Given the description of an element on the screen output the (x, y) to click on. 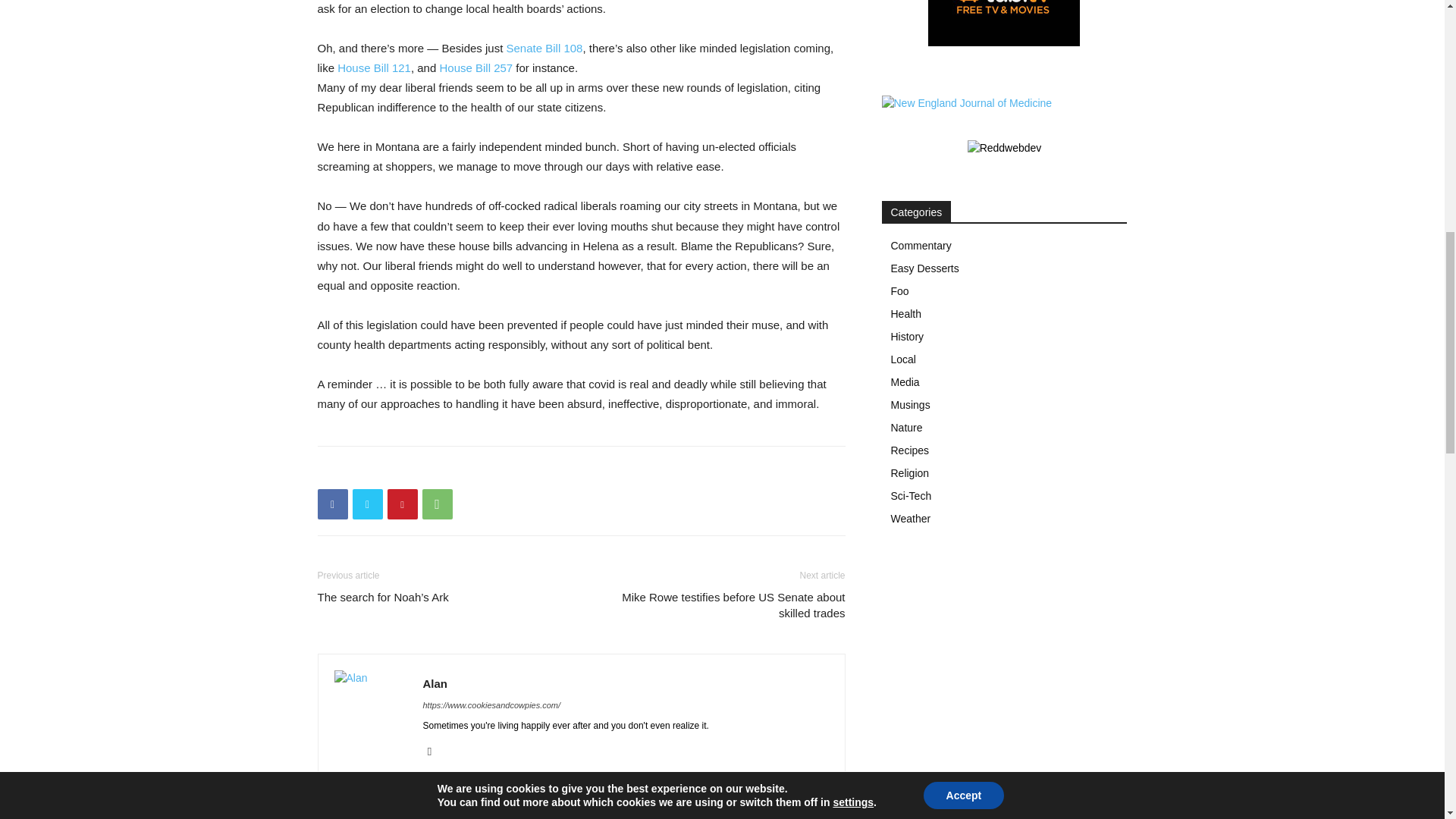
bottomFacebookLike (430, 470)
Pinterest (401, 503)
Facebook (332, 503)
WhatsApp (436, 503)
Twitter (366, 503)
